Given the description of an element on the screen output the (x, y) to click on. 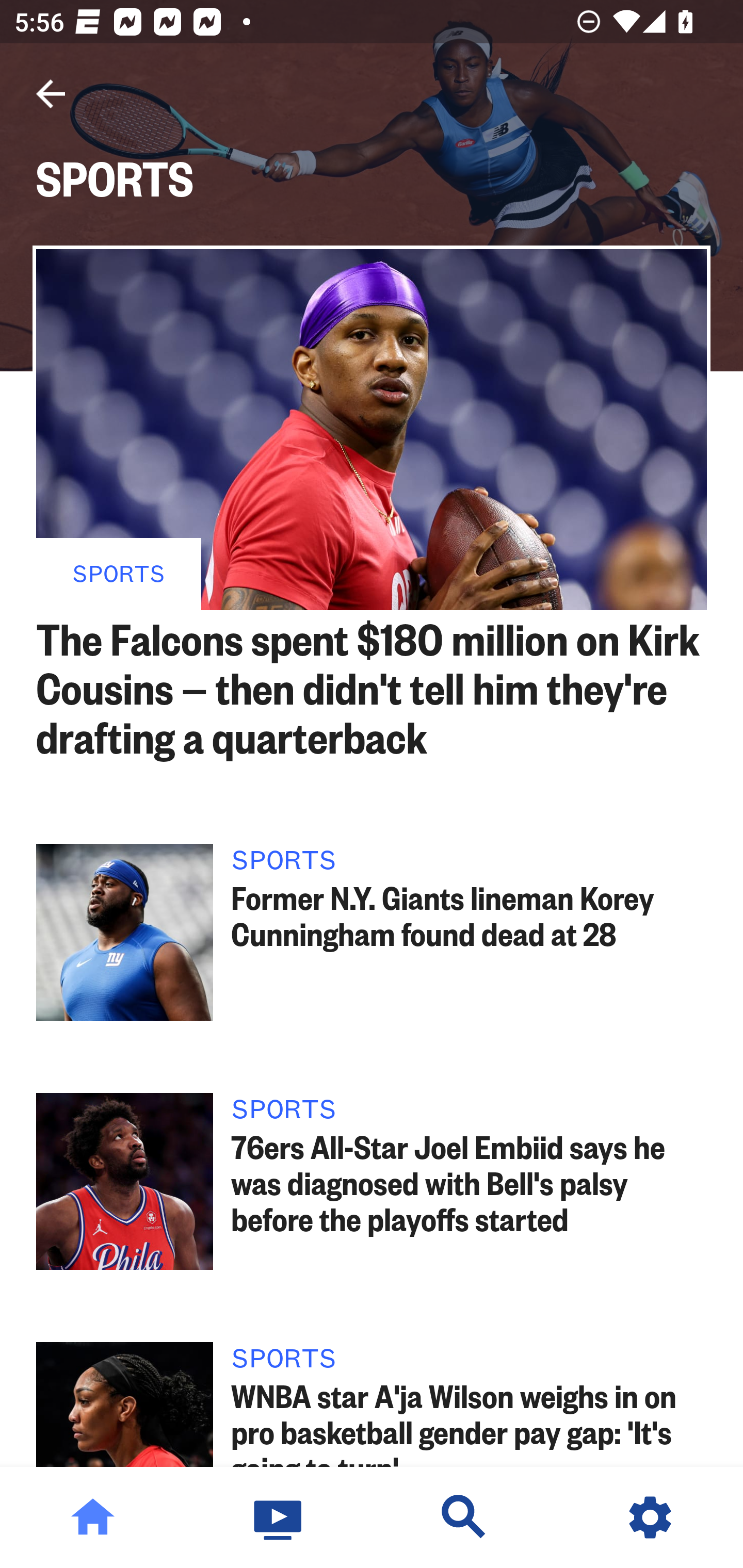
Navigate up (50, 93)
Watch (278, 1517)
Discover (464, 1517)
Settings (650, 1517)
